Given the description of an element on the screen output the (x, y) to click on. 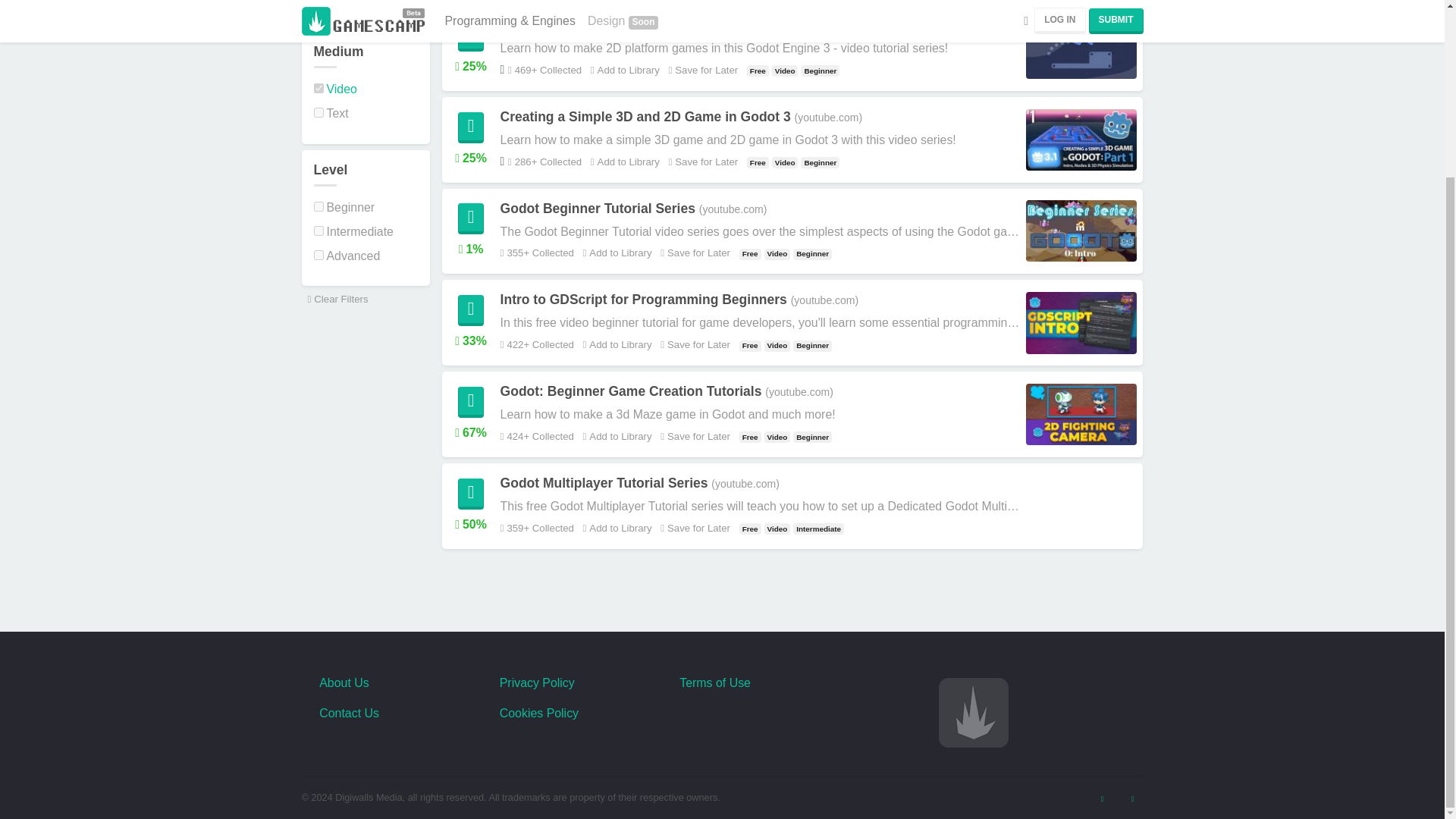
Video (335, 88)
Beginner (344, 206)
Intermediate (353, 231)
on (318, 88)
on (318, 230)
on (318, 206)
Paid (332, 0)
Save for Later (700, 161)
Add to Library (615, 252)
Add to Library (623, 161)
Add to Library (623, 70)
on (318, 255)
Text (331, 113)
Advanced (347, 255)
on (318, 112)
